Given the description of an element on the screen output the (x, y) to click on. 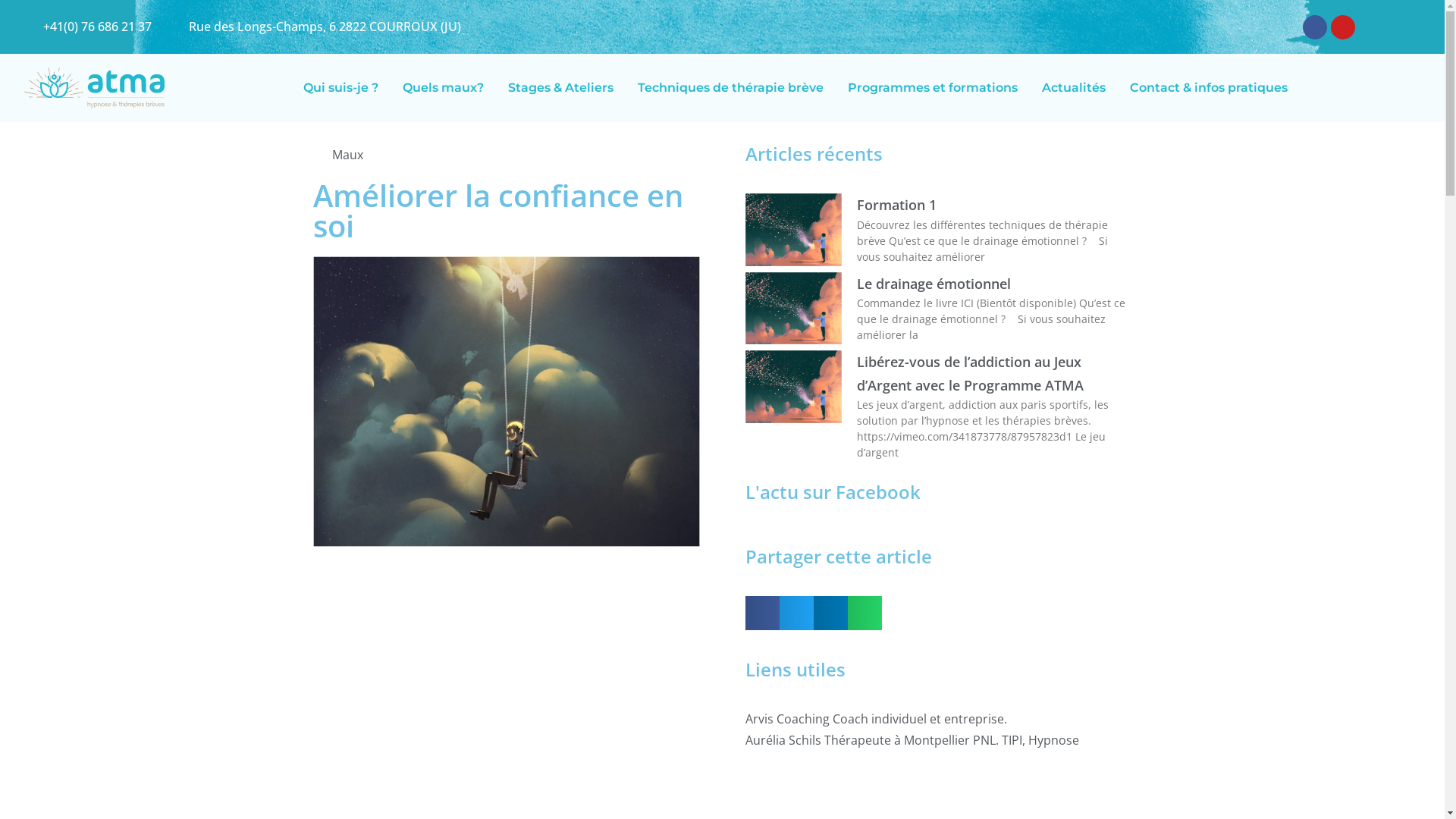
Formation 1 Element type: text (896, 204)
Quels maux? Element type: text (442, 87)
Qui suis-je ? Element type: text (340, 87)
Stages & Ateliers Element type: text (560, 87)
Contact & infos pratiques Element type: text (1208, 87)
Programmes et formations Element type: text (932, 87)
Arvis Coaching Coach individuel et entreprise. Element type: text (937, 719)
logo_atma Element type: hover (94, 87)
Maux Element type: text (347, 154)
